Given the description of an element on the screen output the (x, y) to click on. 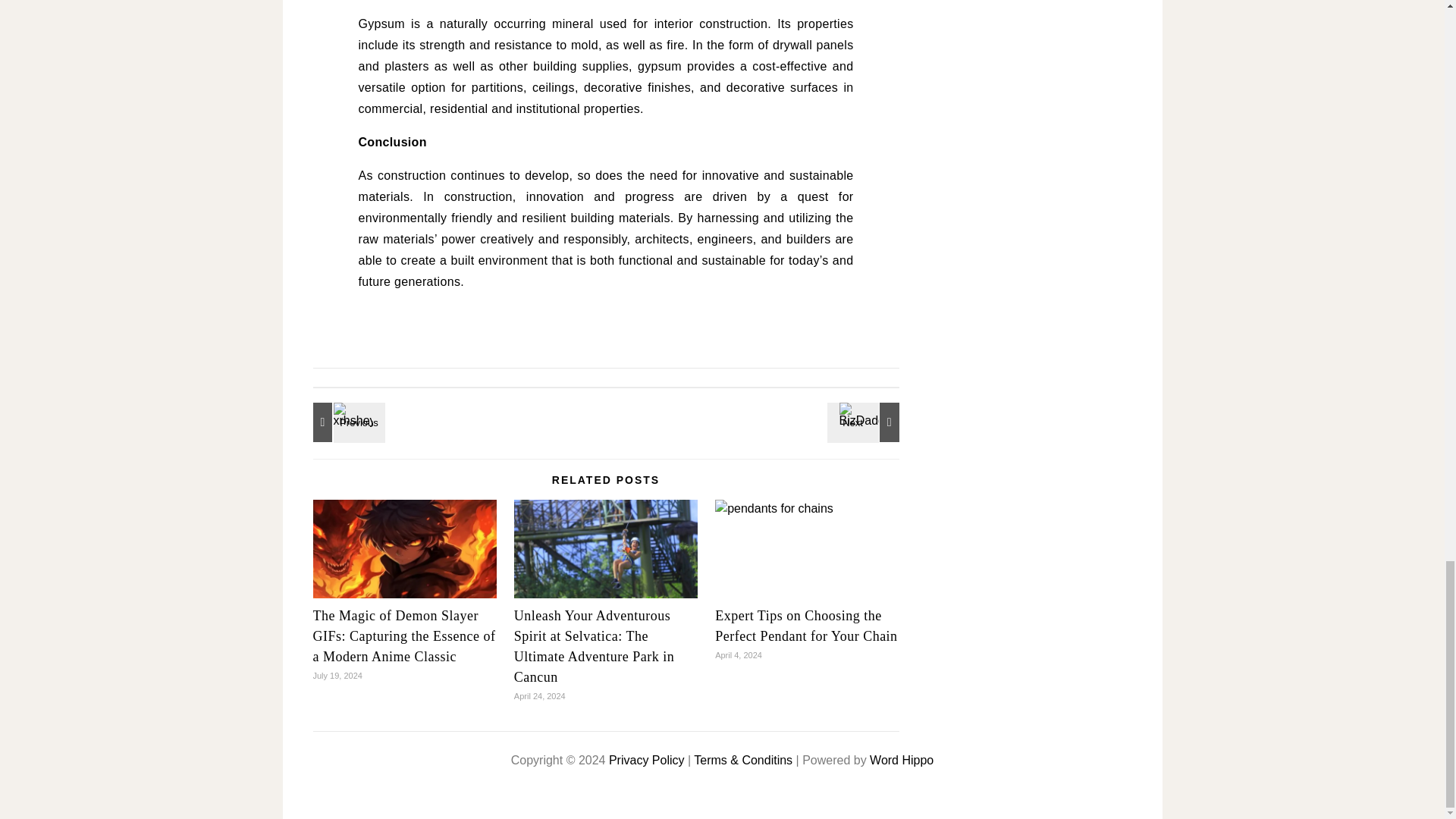
The Ultimate Guide to Xrhsheykeria: Unlocking the Mystery (346, 422)
